Given the description of an element on the screen output the (x, y) to click on. 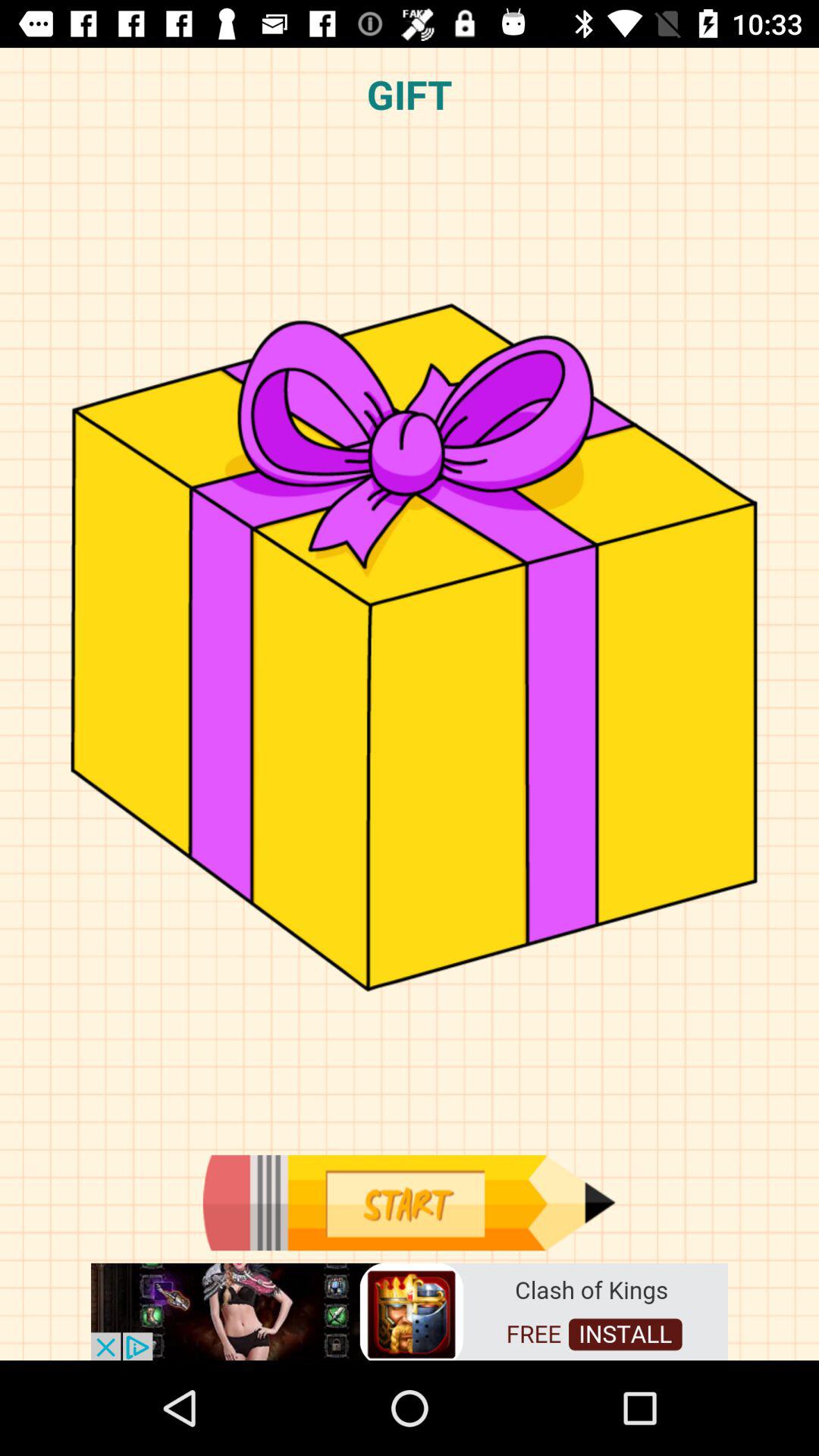
start drawing (409, 1202)
